Given the description of an element on the screen output the (x, y) to click on. 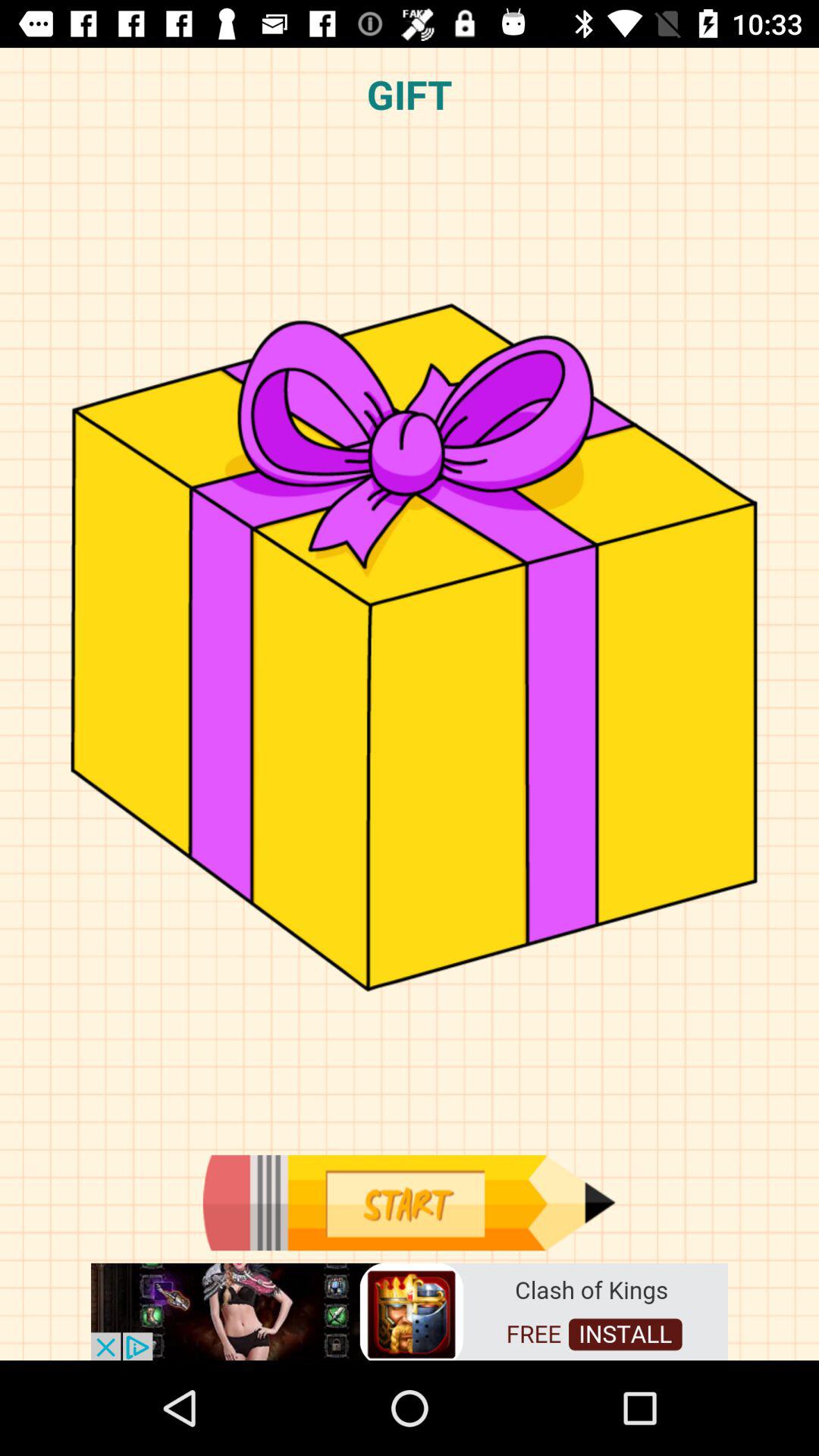
start drawing (409, 1202)
